Given the description of an element on the screen output the (x, y) to click on. 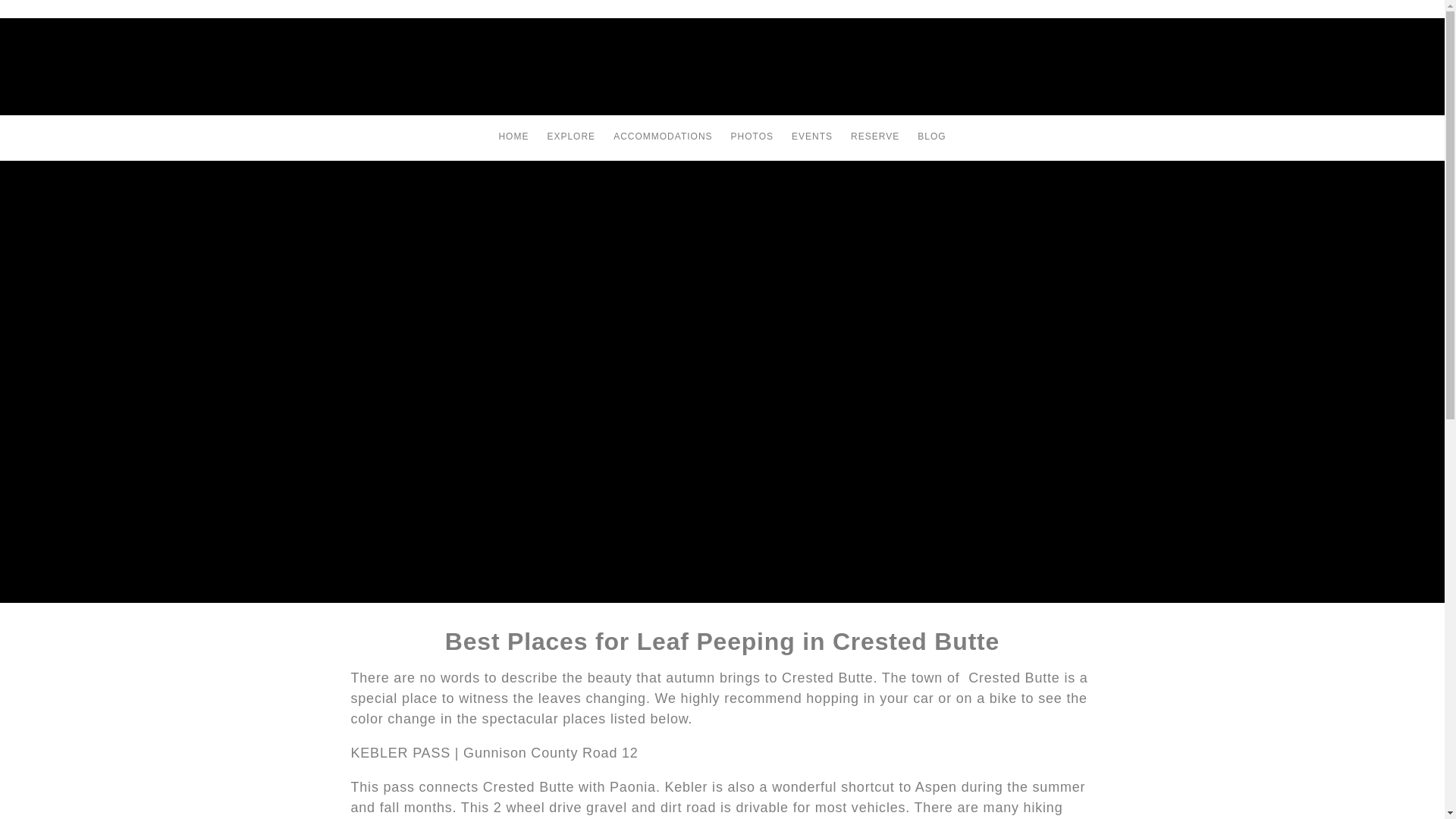
ACCOMMODATIONS (662, 137)
PHOTOS (752, 137)
HOME (513, 137)
BLOG (931, 137)
EXPLORE (570, 137)
EVENTS (812, 137)
RESERVE (874, 137)
